Given the description of an element on the screen output the (x, y) to click on. 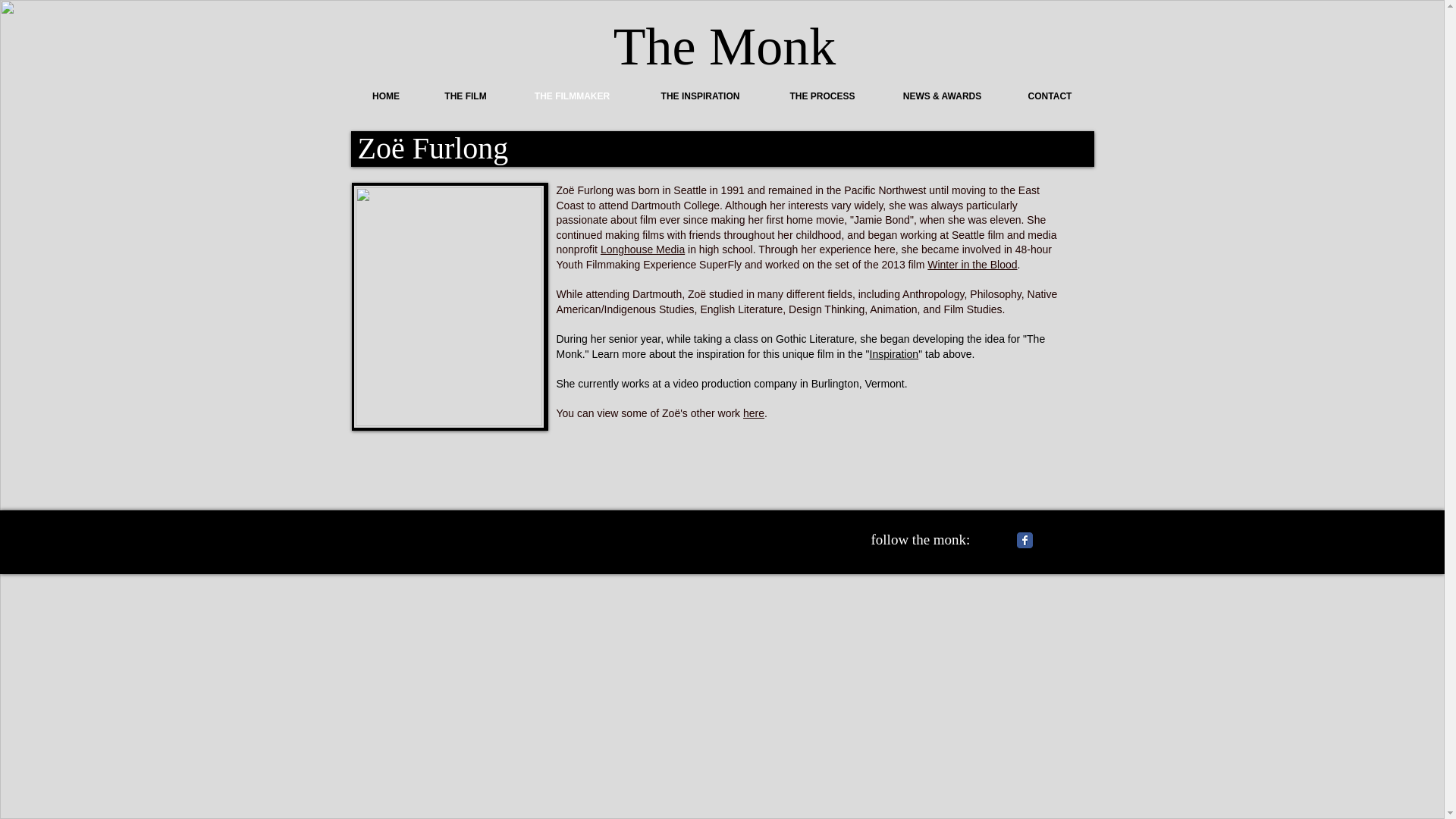
Winter in the Blood (971, 264)
HOME (385, 96)
here (753, 413)
Longhouse Media (641, 249)
Inspiration (893, 354)
The Monk (723, 46)
CONTACT (1049, 96)
THE FILM (466, 96)
THE FILMMAKER (571, 96)
THE INSPIRATION (699, 96)
THE PROCESS (821, 96)
